Given the description of an element on the screen output the (x, y) to click on. 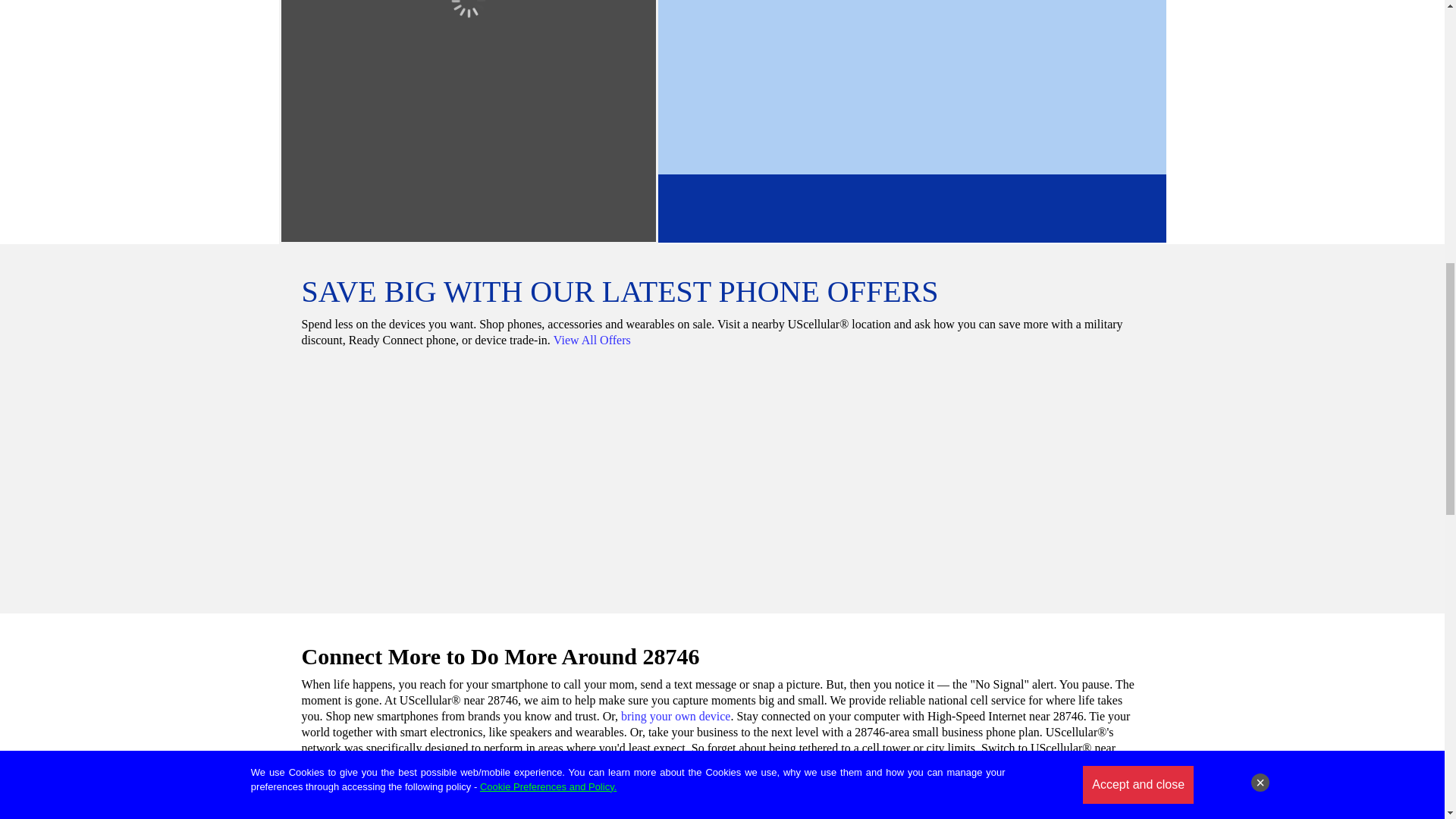
bring your own device (675, 716)
View All Offers (591, 339)
